Given the description of an element on the screen output the (x, y) to click on. 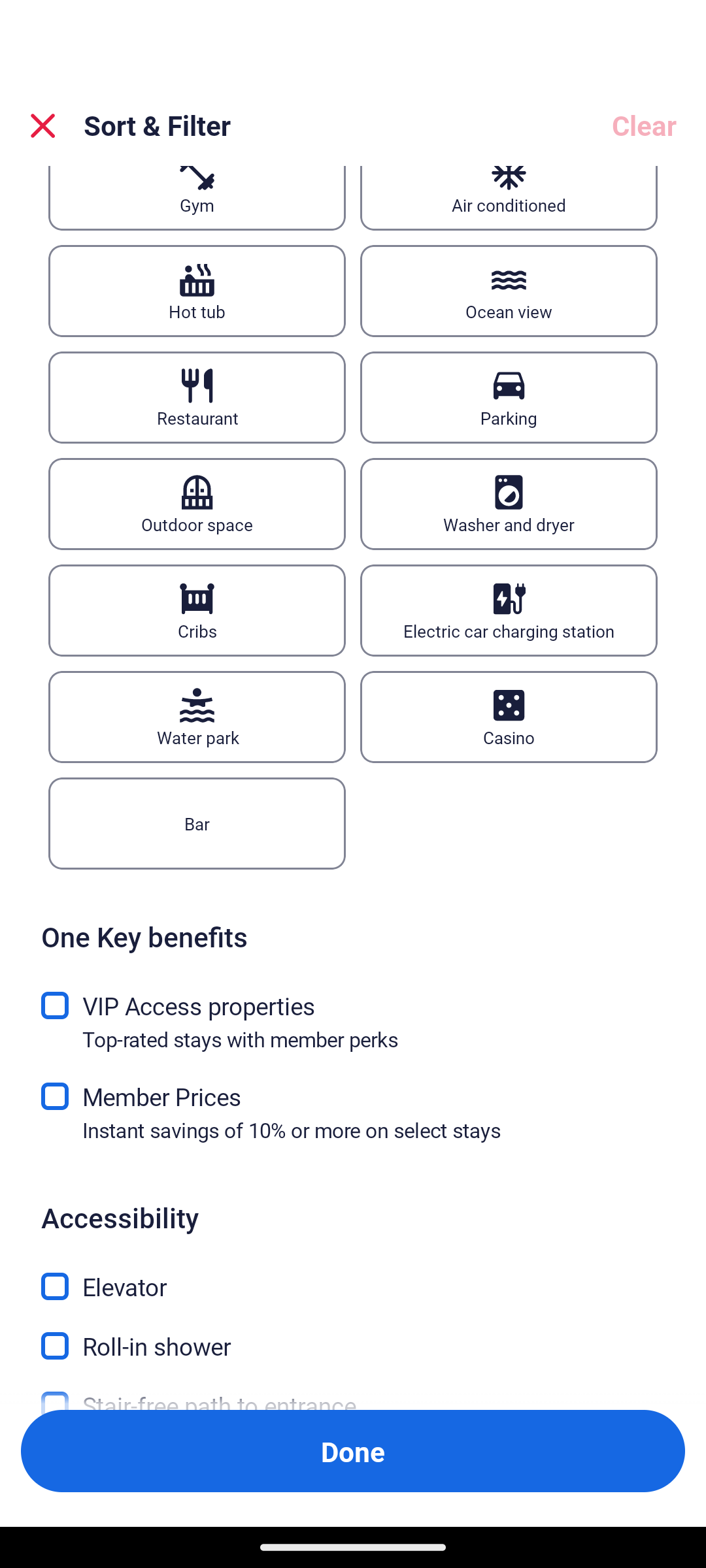
Clear (643, 125)
Close Sort and Filter (43, 125)
Gym (196, 198)
Air conditioned (508, 198)
Hot tub (196, 290)
Ocean view (508, 290)
Restaurant (196, 397)
Parking (508, 397)
Outdoor space (196, 503)
Washer and dryer (508, 503)
Cribs (196, 610)
Electric car charging station (508, 610)
Water park (196, 717)
Casino (508, 717)
Bar (196, 823)
Elevator, Elevator (352, 1275)
Roll-in shower, Roll-in shower (352, 1334)
Apply and close Sort and Filter Done (352, 1450)
